Given the description of an element on the screen output the (x, y) to click on. 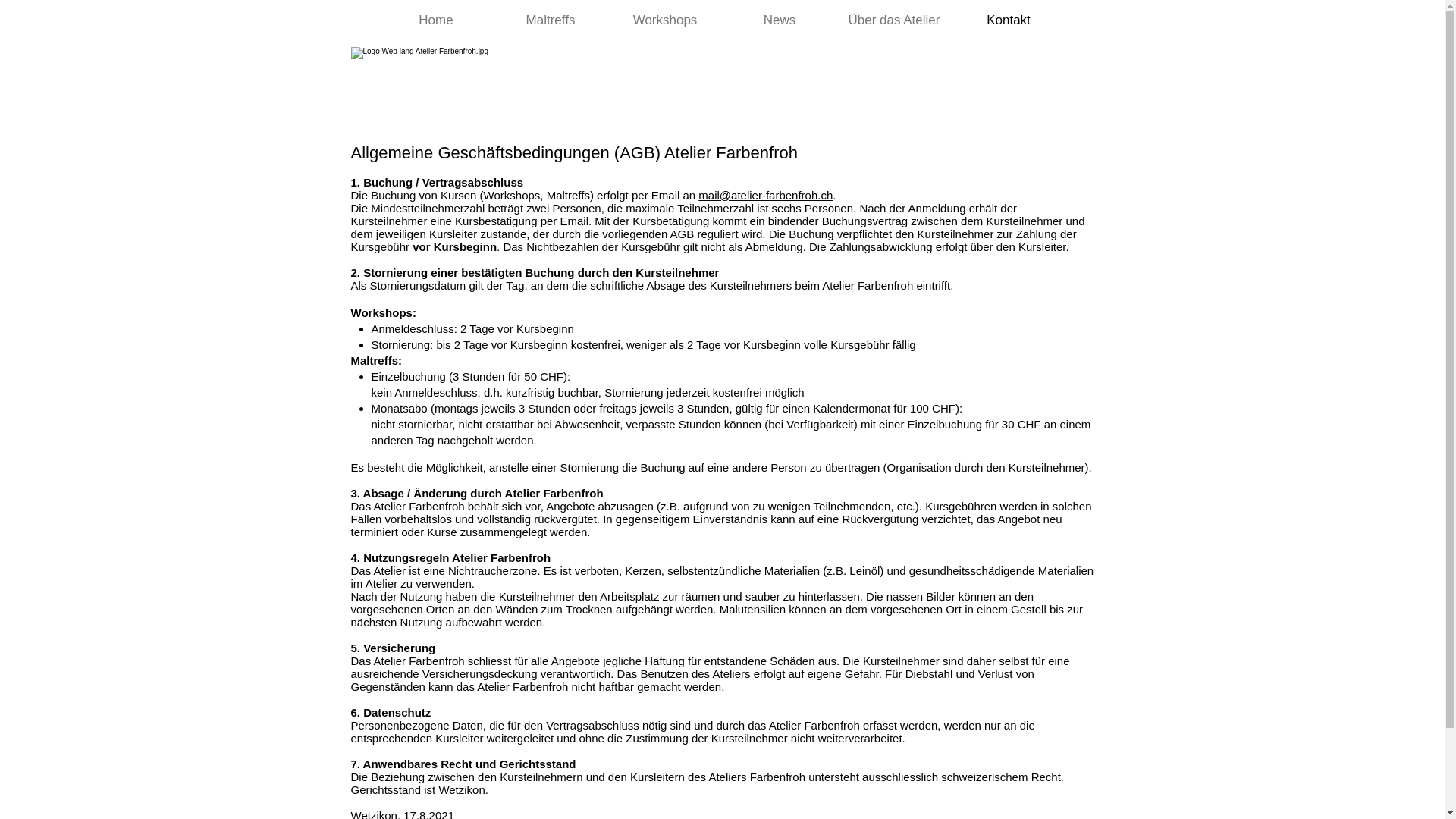
mail@atelier-farbenfroh.ch Element type: text (765, 194)
News Element type: text (778, 20)
Maltreffs Element type: text (549, 20)
Home Element type: text (436, 20)
Kontakt Element type: text (1007, 20)
Workshops Element type: text (665, 20)
